Given the description of an element on the screen output the (x, y) to click on. 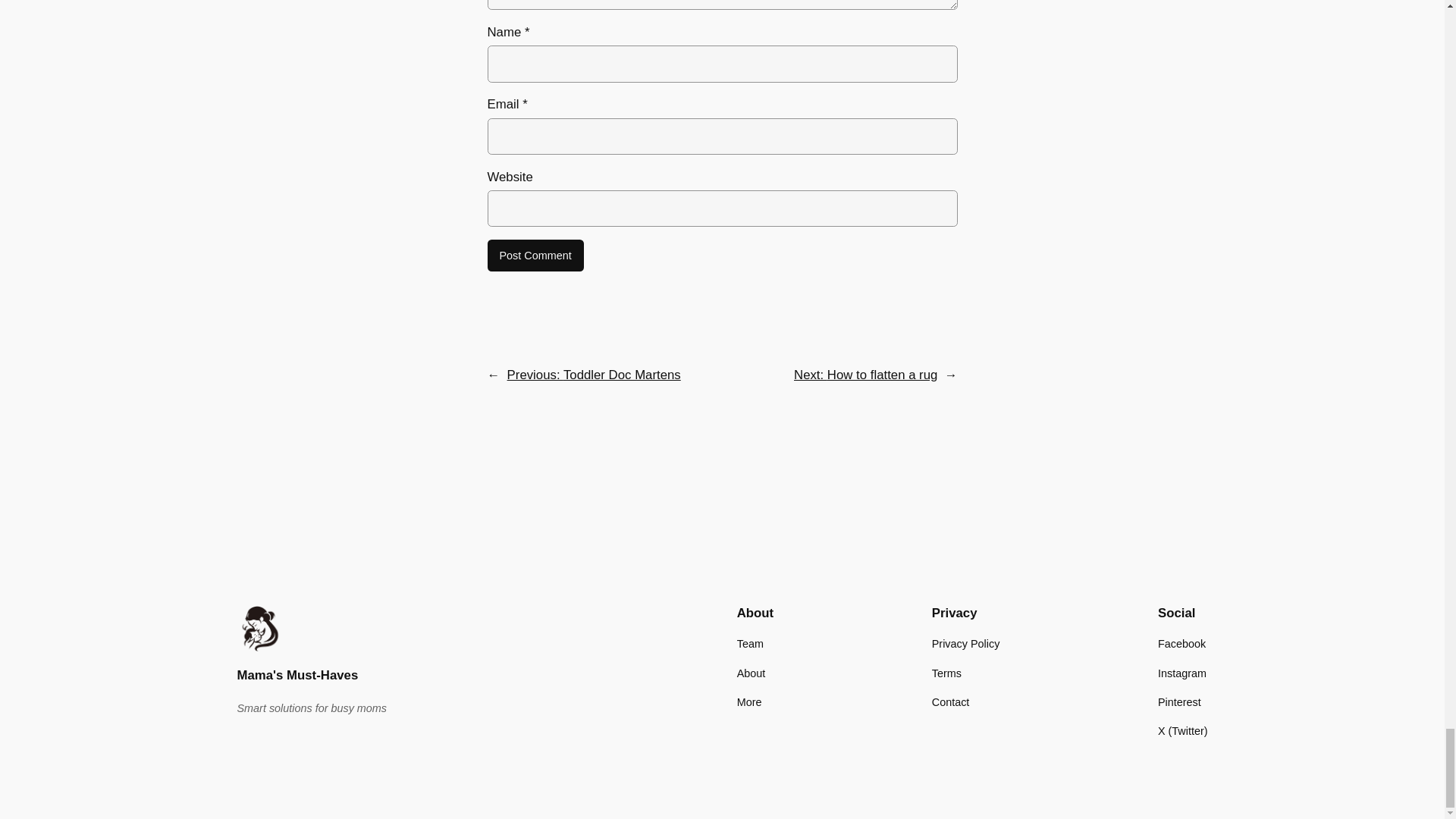
Post Comment (534, 255)
Post Comment (534, 255)
Privacy Policy (965, 643)
Mama's Must-Haves (296, 675)
Contact (950, 701)
Instagram (1182, 673)
Team (749, 643)
About (750, 673)
Previous: Toddler Doc Martens (593, 374)
Pinterest (1179, 701)
